Given the description of an element on the screen output the (x, y) to click on. 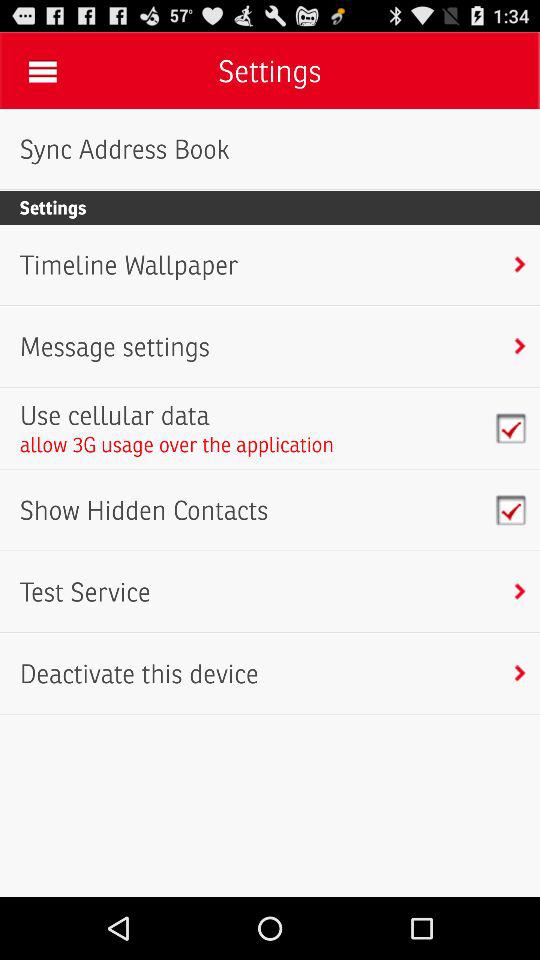
open icon below the use cellular data icon (176, 444)
